Given the description of an element on the screen output the (x, y) to click on. 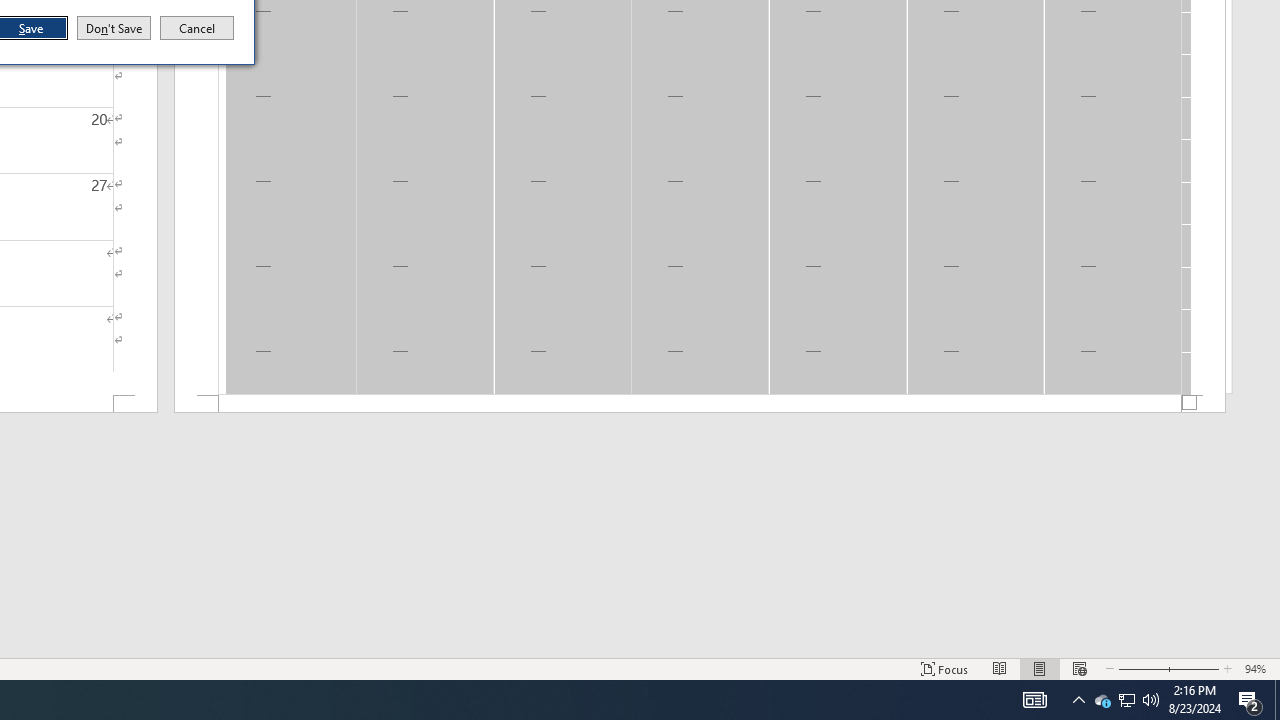
Show desktop (1277, 699)
